Given the description of an element on the screen output the (x, y) to click on. 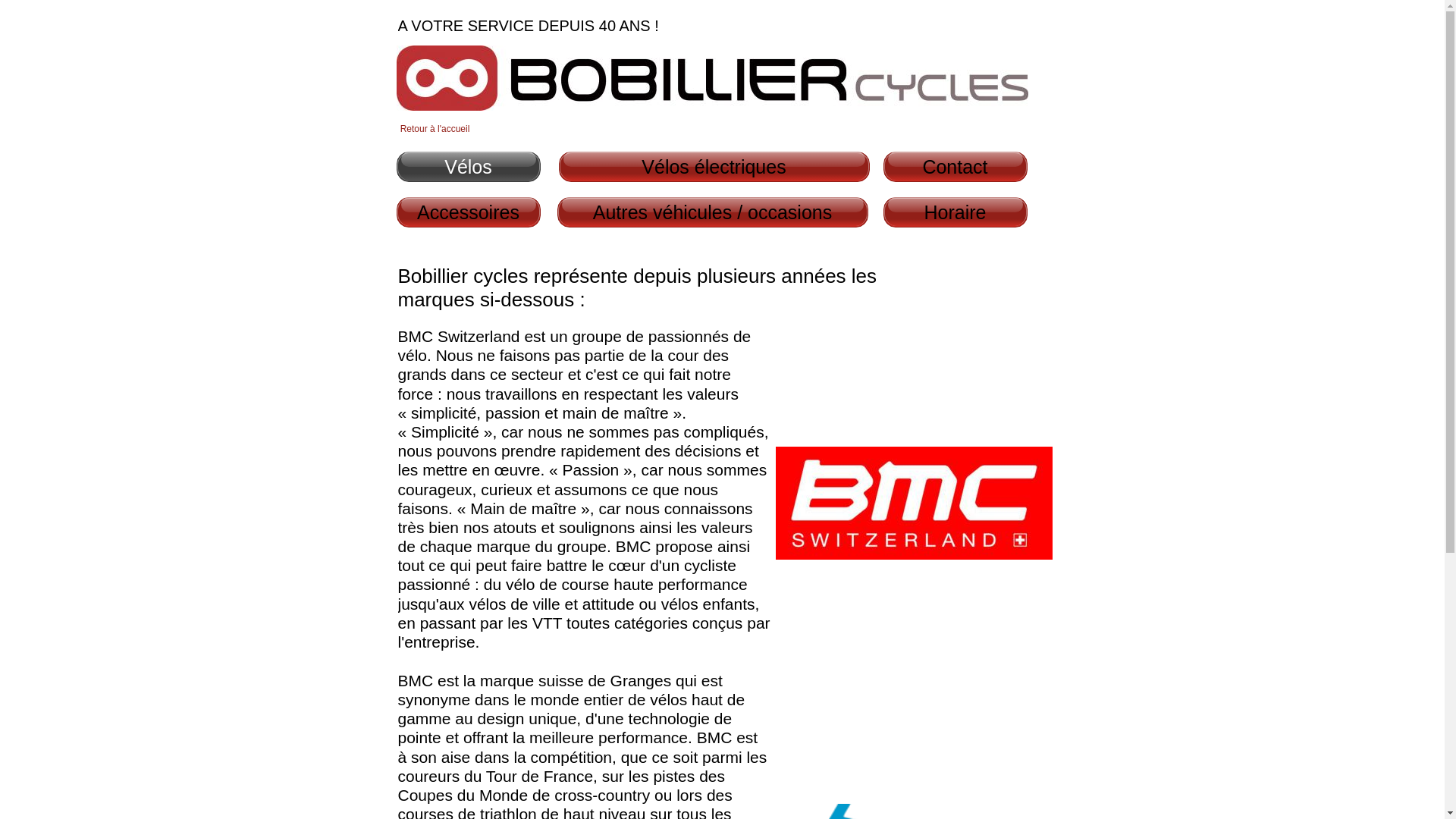
  Element type: text (381, 6)
Accessoires Element type: text (468, 211)
Horaire Element type: text (954, 212)
Contact Element type: text (954, 166)
Accessoires Element type: text (467, 212)
Contact Element type: text (954, 166)
Horaire Element type: text (954, 211)
